Given the description of an element on the screen output the (x, y) to click on. 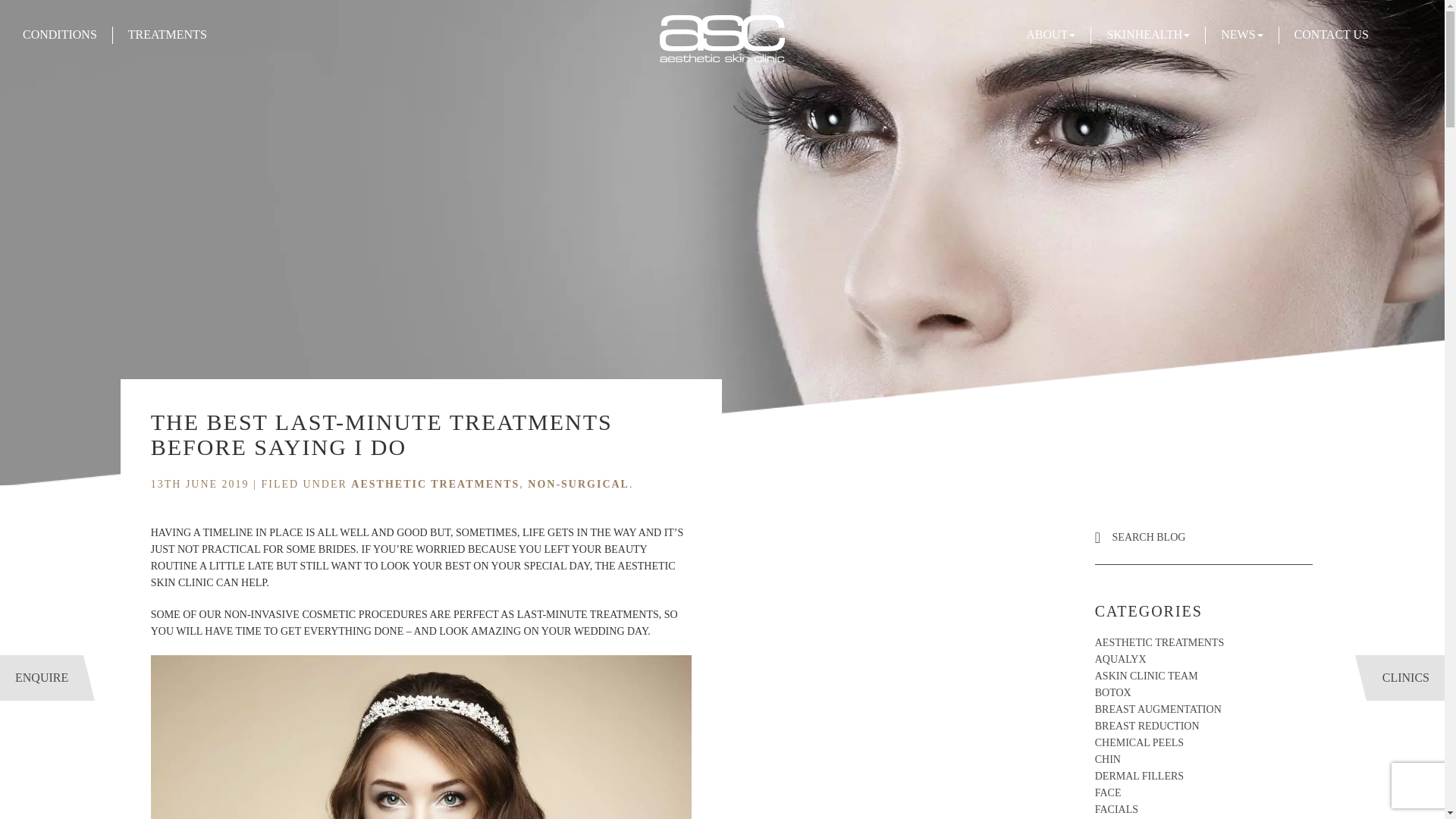
CONTACT US (1331, 33)
TREATMENTS (167, 33)
ENQUIRE (41, 677)
ABOUT (1050, 33)
NEWS (1241, 33)
SKINHEALTH (1147, 33)
CONDITIONS (60, 33)
